Given the description of an element on the screen output the (x, y) to click on. 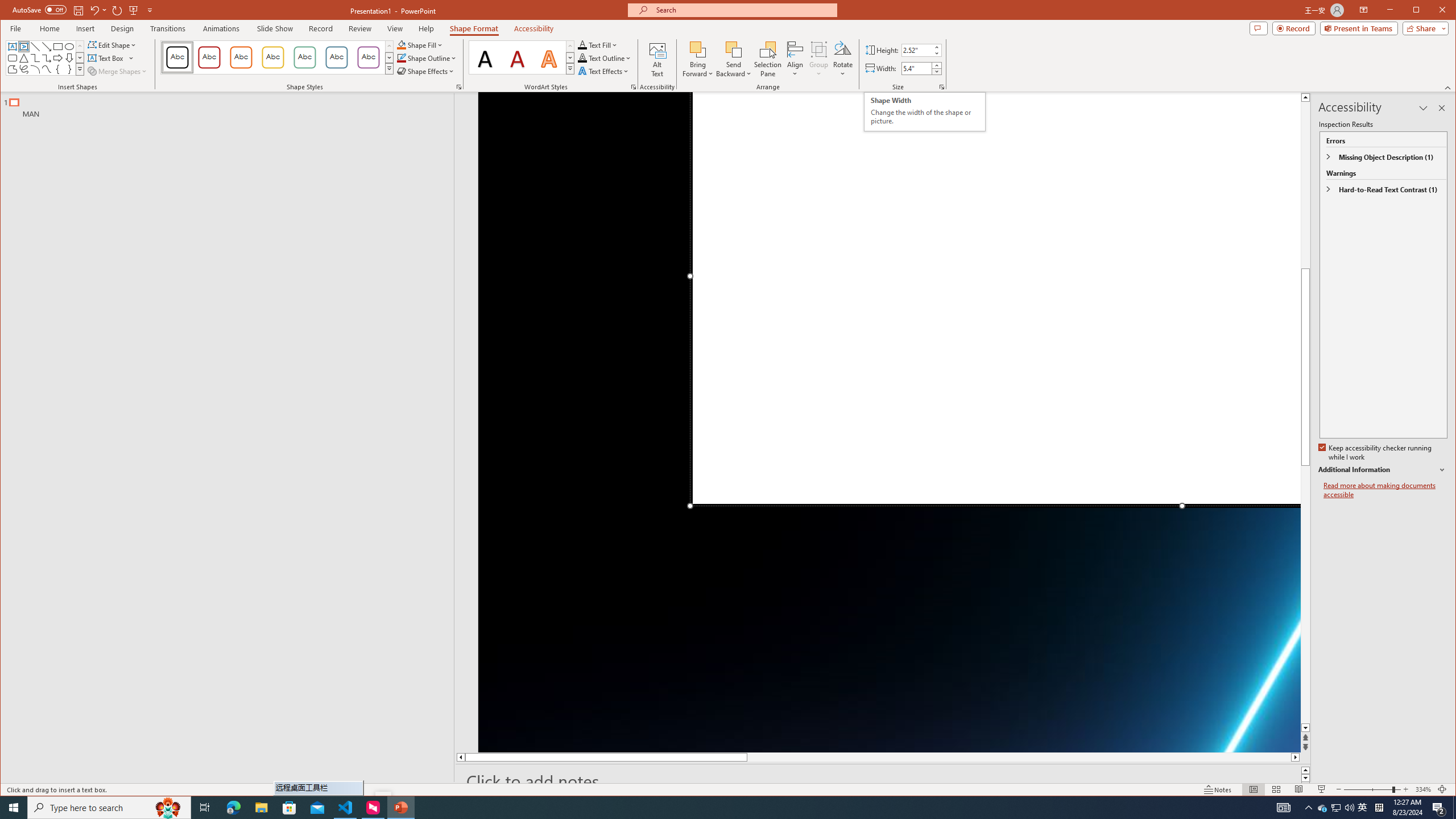
Send Backward (733, 59)
Merge Shapes (118, 70)
Colored Outline - Green, Accent 4 (304, 57)
Selection Pane... (767, 59)
Colored Outline - Black, Dark 1 (177, 57)
Shape Width (916, 68)
